Given the description of an element on the screen output the (x, y) to click on. 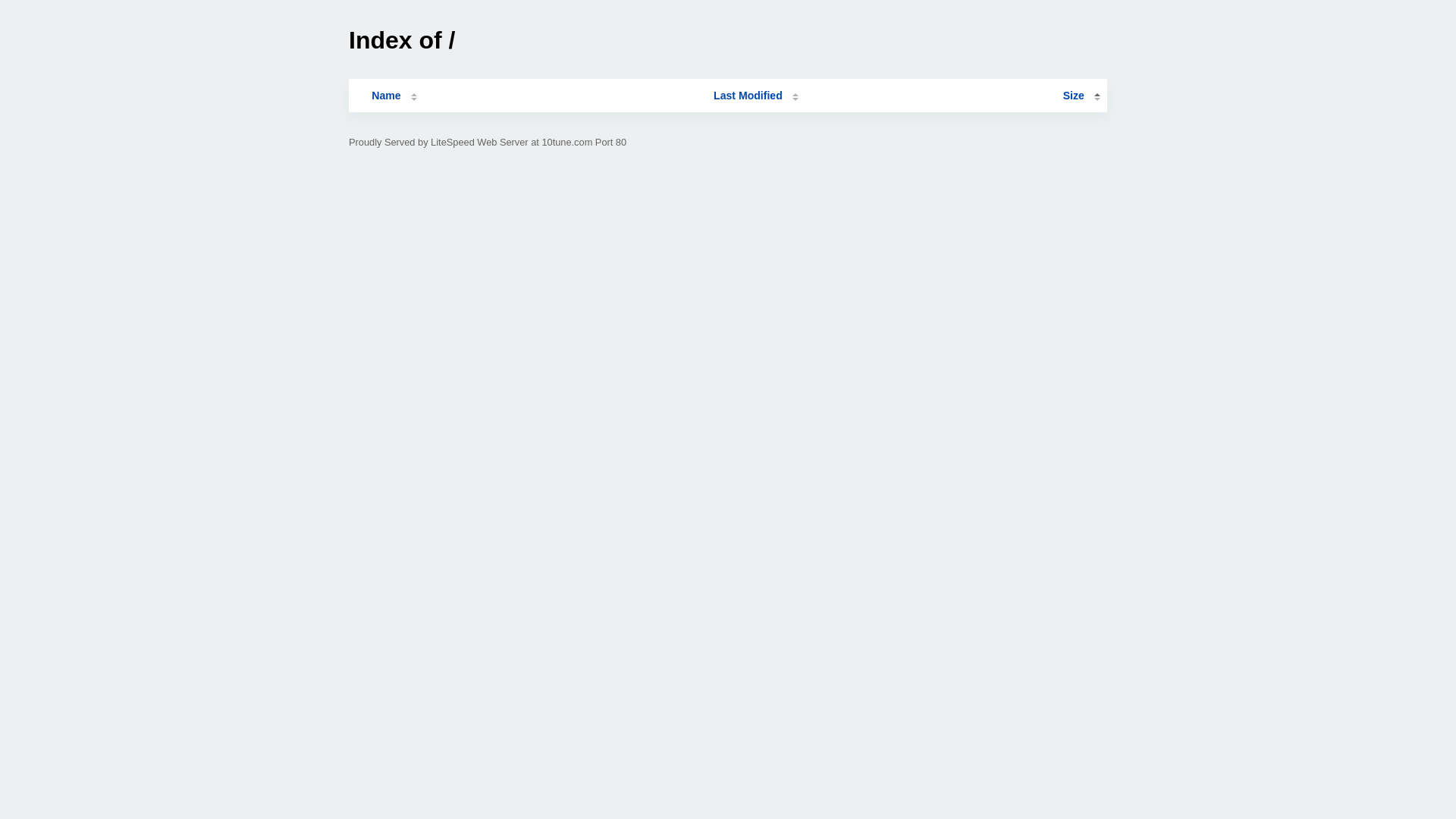
Last Modified Element type: text (755, 95)
Name Element type: text (385, 95)
Size Element type: text (1081, 95)
